Given the description of an element on the screen output the (x, y) to click on. 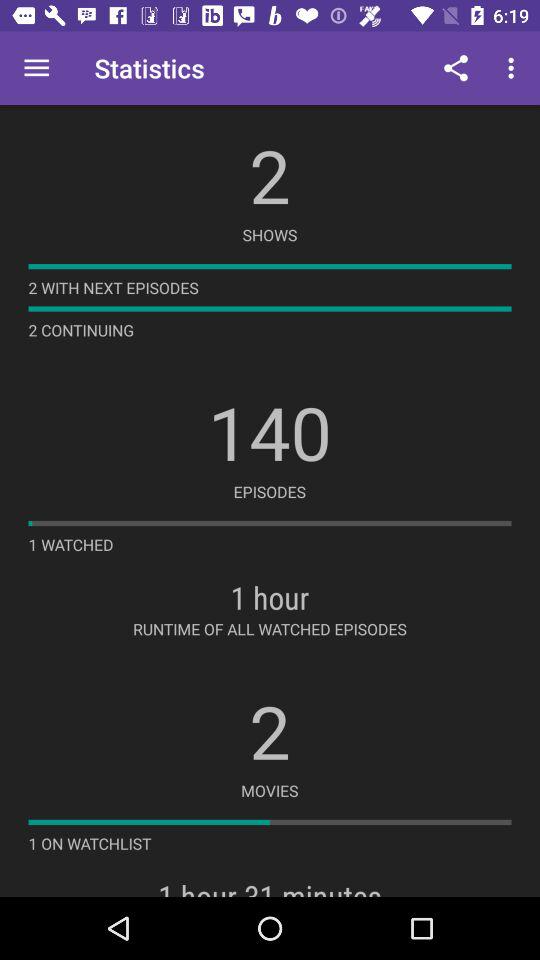
flip to the 1 on watchlist (89, 843)
